Given the description of an element on the screen output the (x, y) to click on. 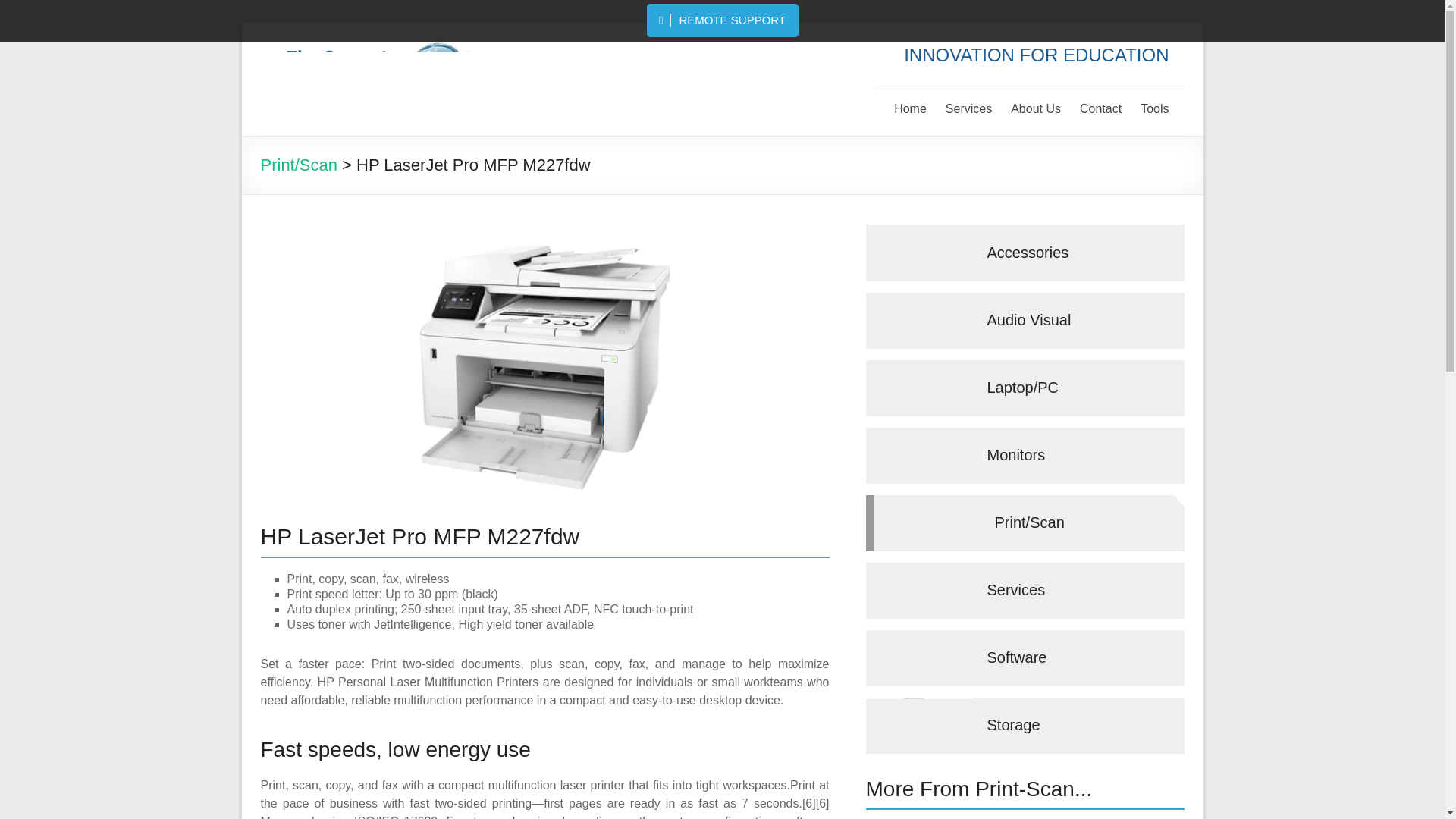
Tools (1154, 112)
Services (1025, 590)
Home (909, 112)
Services (967, 112)
Contact (1100, 112)
Audio Visual (1025, 320)
Storage (1025, 725)
About Us (1035, 112)
Software (1025, 657)
Monitors (1025, 455)
REMOTE SUPPORT (722, 20)
Accessories (1025, 253)
